Given the description of an element on the screen output the (x, y) to click on. 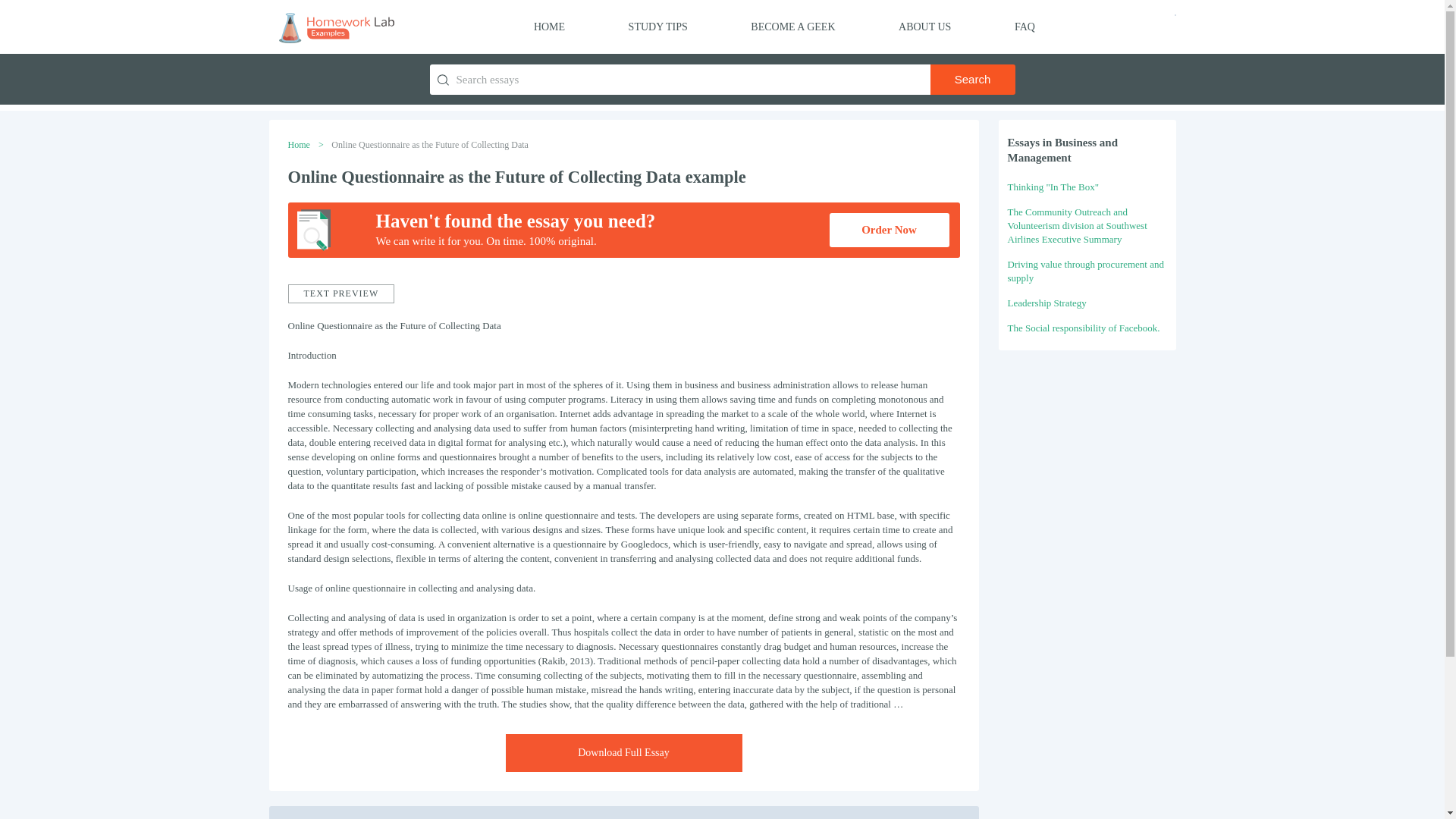
Order Now (889, 229)
Driving value through procurement and supply (1085, 270)
HOME (549, 26)
ABOUT US (924, 26)
Search (972, 79)
BECOME A GEEK (792, 26)
Leadership Strategy (1046, 302)
Thinking "In The Box" (1053, 186)
Download Full Essay (623, 752)
STUDY TIPS (657, 26)
Home (299, 144)
FAQ (1024, 26)
The Social responsibility of Facebook. (1082, 327)
